Given the description of an element on the screen output the (x, y) to click on. 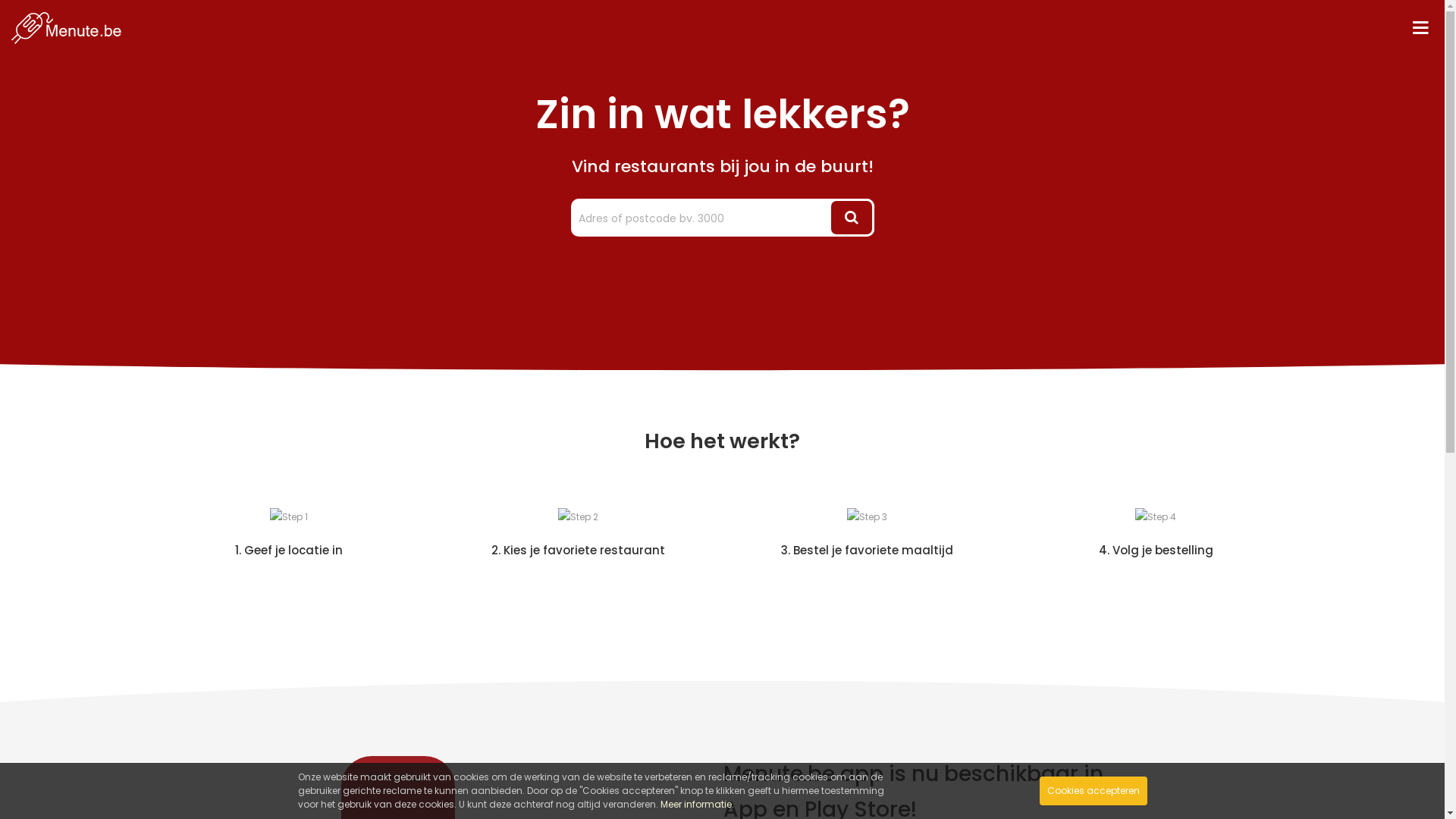
Step 4 Element type: hover (1155, 517)
Step 3 Element type: hover (866, 517)
Cookies accepteren Element type: text (1092, 790)
Step 1 Element type: hover (288, 517)
Meer informatie. Element type: text (696, 803)
Step 2 Element type: hover (578, 517)
